Given the description of an element on the screen output the (x, y) to click on. 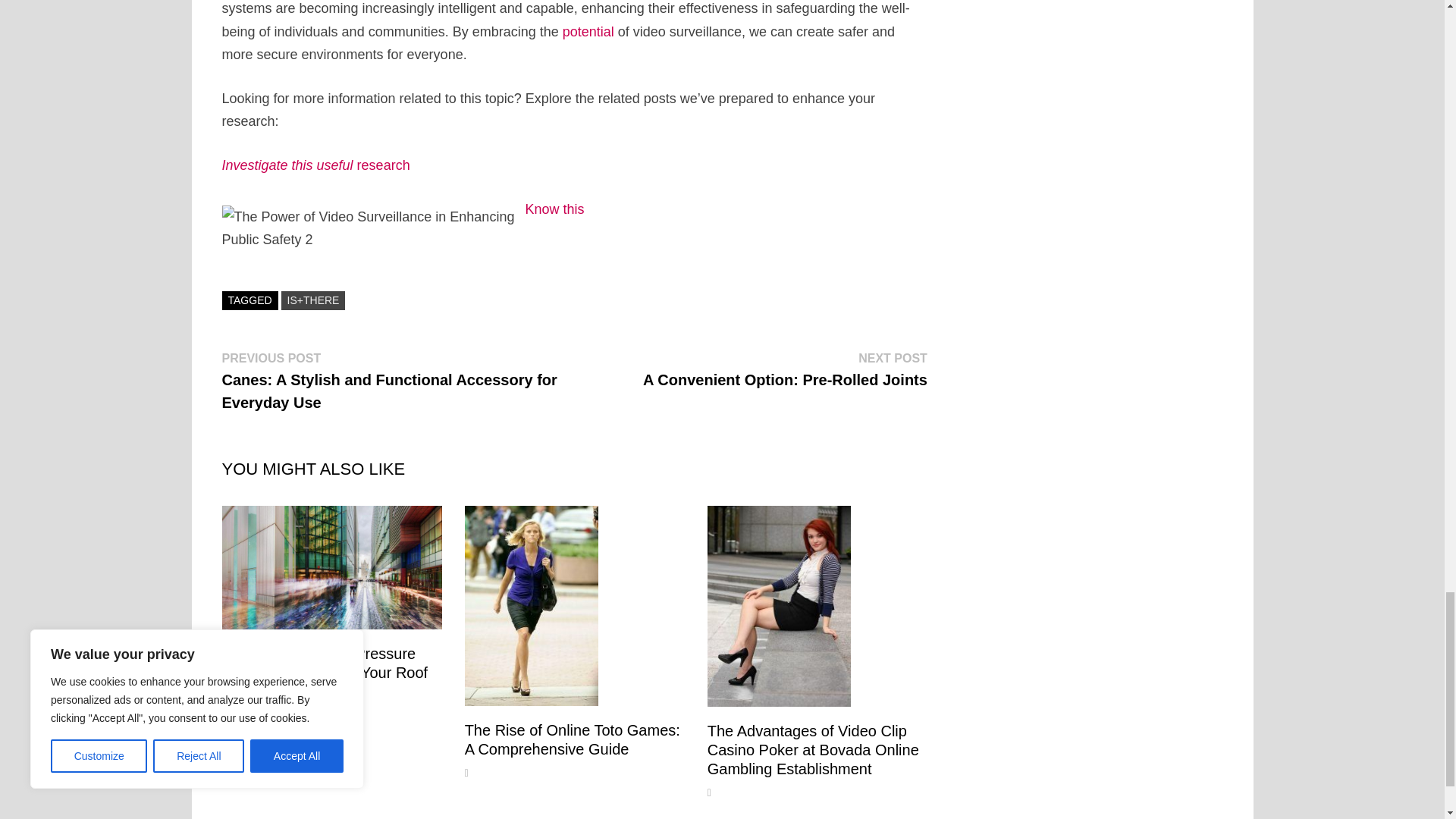
Investigate this useful research (315, 165)
The Rise of Online Toto Games: A Comprehensive Guide (571, 739)
Know this (553, 209)
The Rise of Online Toto Games: A Comprehensive Guide (571, 739)
Choosing the Right Pressure Washing Service for Your Roof (324, 662)
Choosing the Right Pressure Washing Service for Your Roof (785, 369)
potential (324, 662)
